Given the description of an element on the screen output the (x, y) to click on. 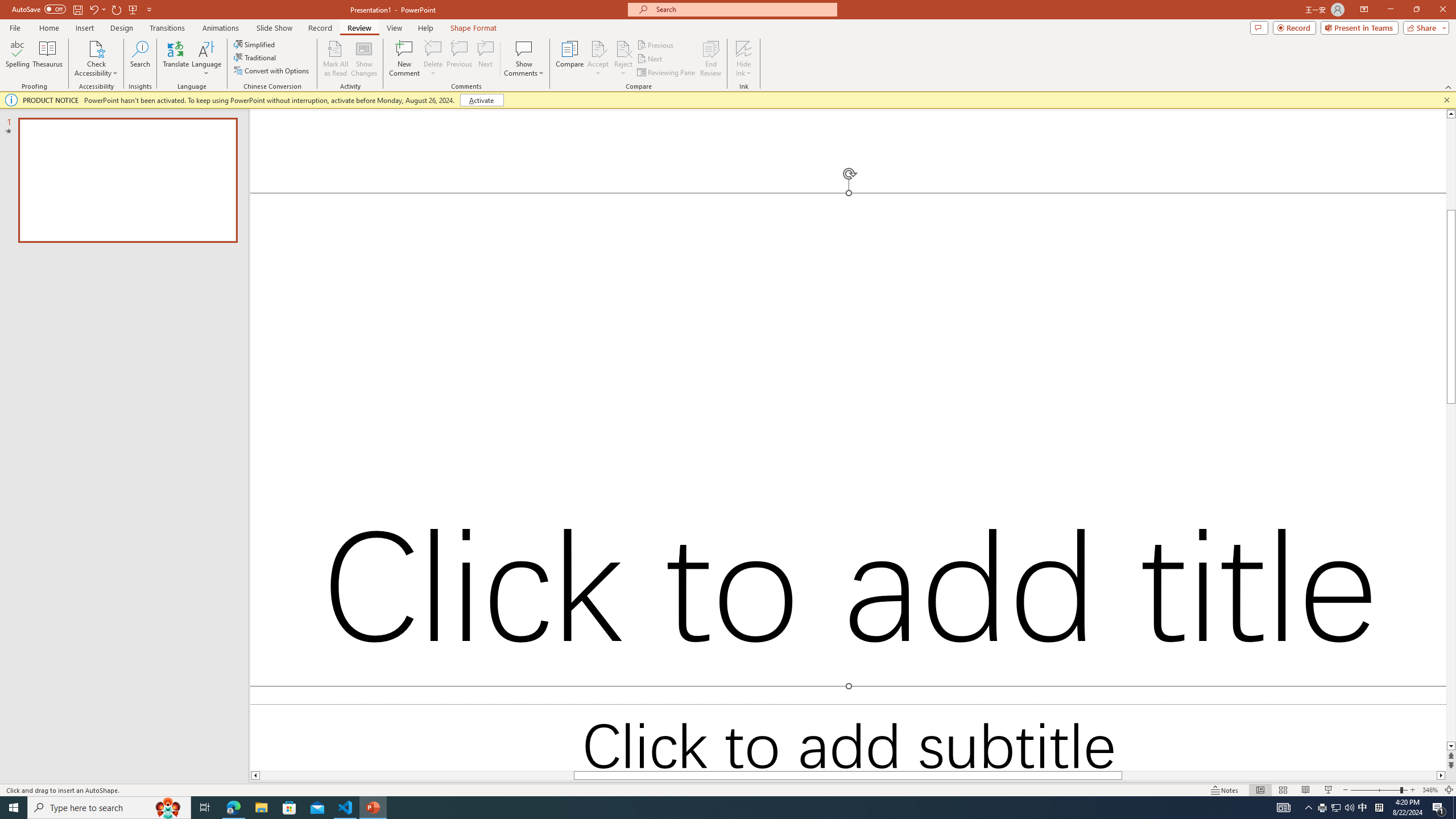
New Comment (403, 58)
Thesaurus... (47, 58)
Previous (655, 44)
